Given the description of an element on the screen output the (x, y) to click on. 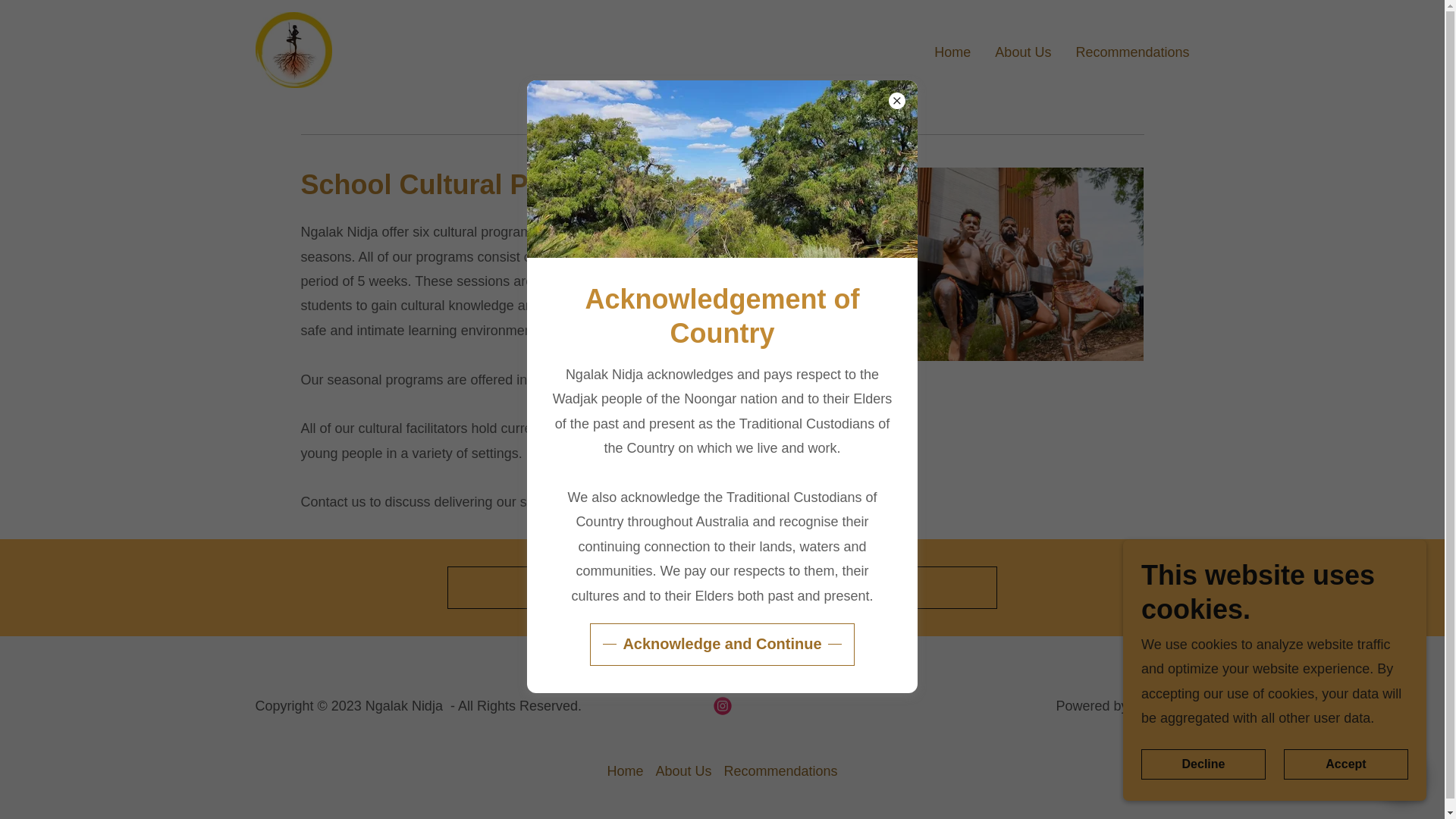
Recommendations (780, 771)
Accept (1345, 764)
Decline (1203, 764)
About Us (683, 771)
Return Home (721, 587)
GoDaddy (1160, 705)
About Us (1022, 50)
Home (624, 771)
Acknowledge and Continue (721, 644)
Recommendations (1131, 50)
Home (952, 50)
